Given the description of an element on the screen output the (x, y) to click on. 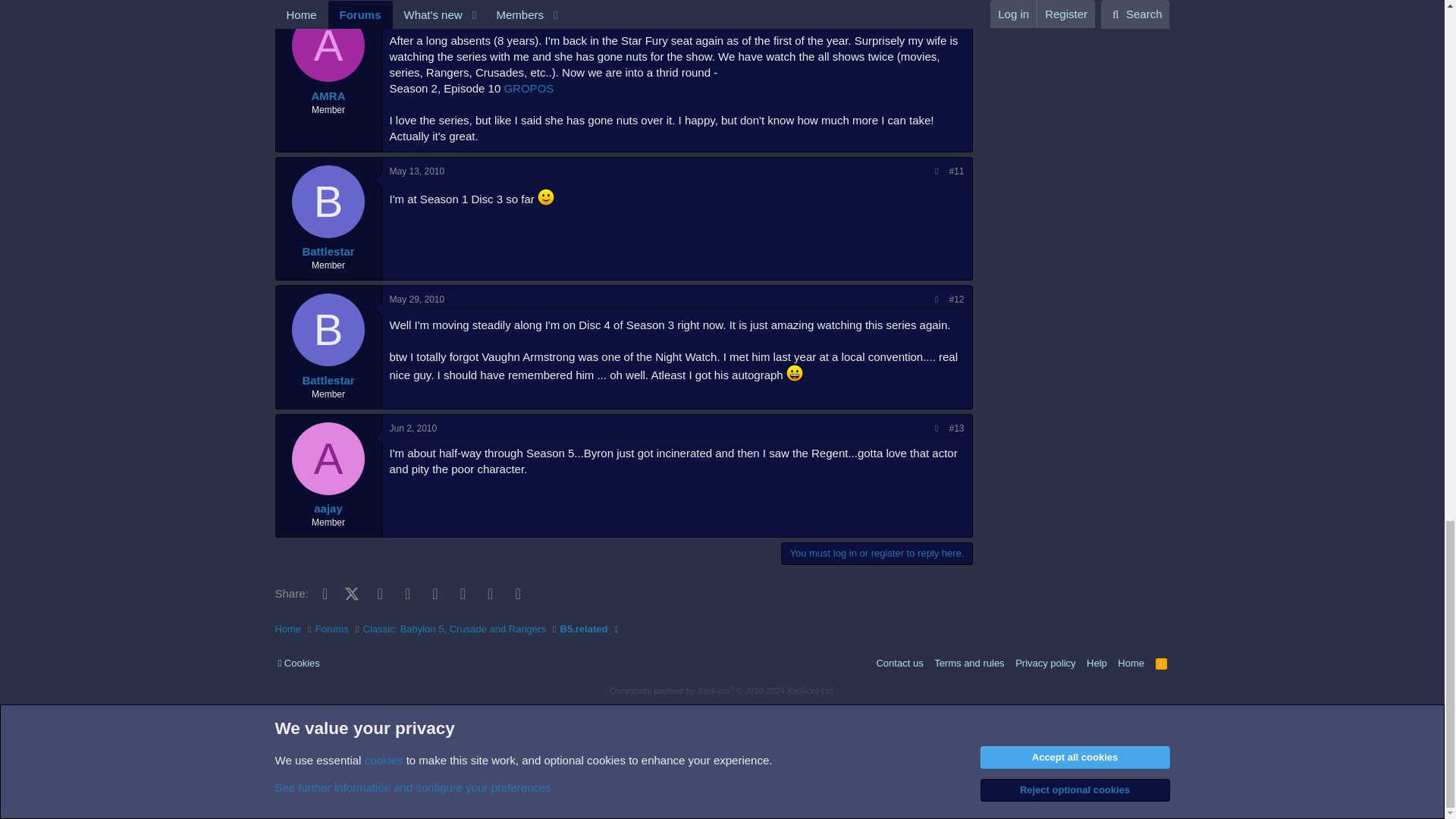
May 13, 2010 at 1:40 PM (417, 171)
May 10, 2010 at 2:04 AM (417, 14)
